Given the description of an element on the screen output the (x, y) to click on. 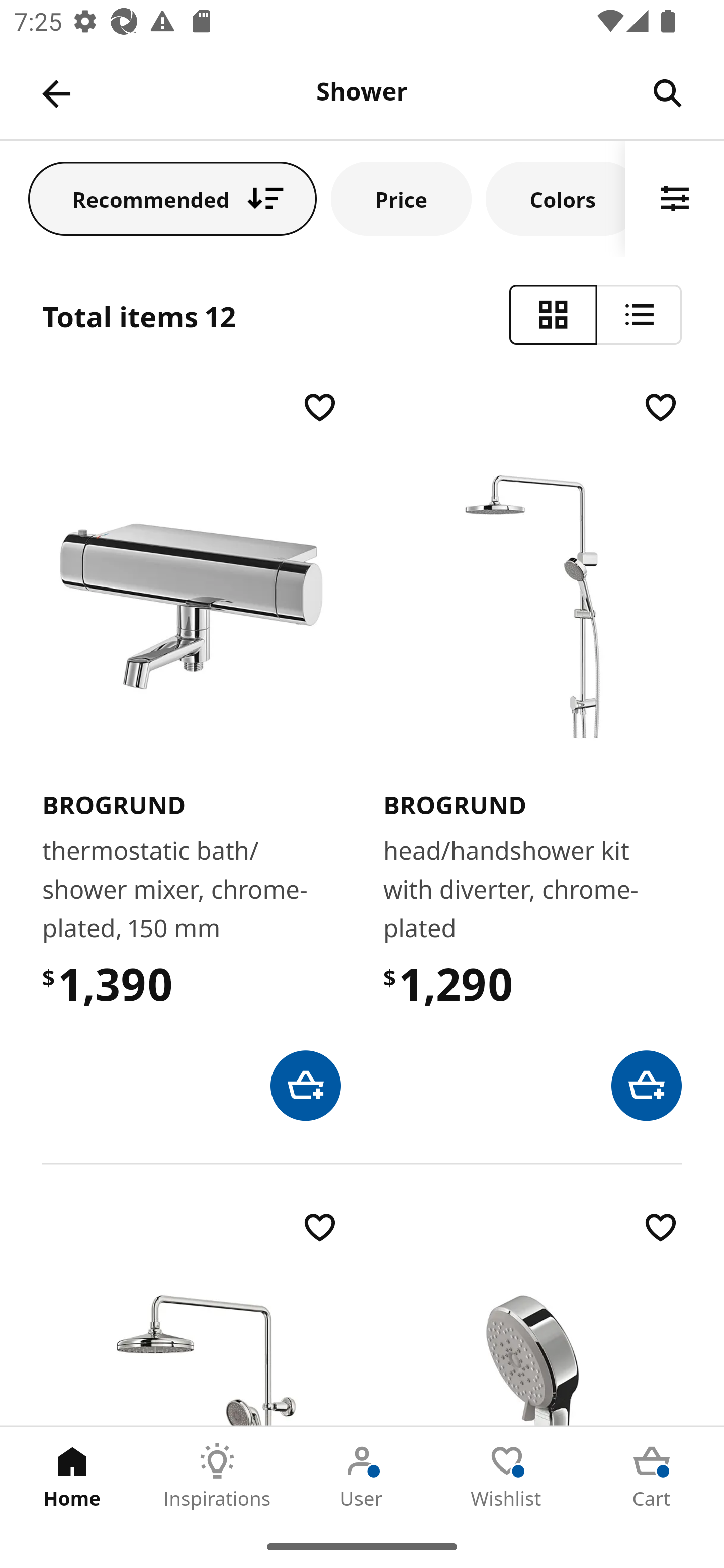
Recommended (172, 198)
Price (400, 198)
Colors (555, 198)
Home
Tab 1 of 5 (72, 1476)
Inspirations
Tab 2 of 5 (216, 1476)
User
Tab 3 of 5 (361, 1476)
Wishlist
Tab 4 of 5 (506, 1476)
Cart
Tab 5 of 5 (651, 1476)
